Given the description of an element on the screen output the (x, y) to click on. 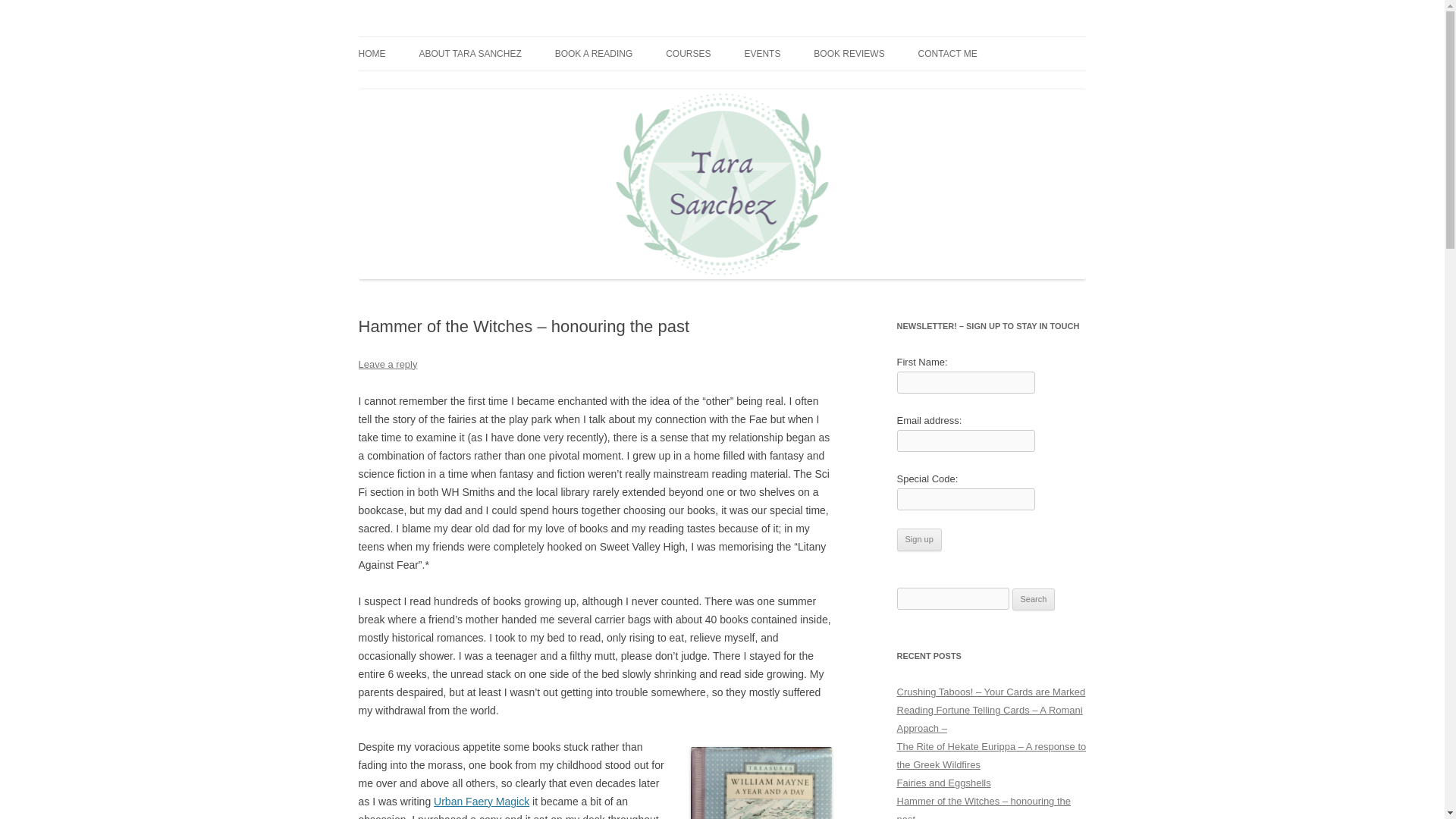
Sign up (918, 539)
Search (1033, 599)
HEKATE: HER SACRED FIRES (889, 85)
Urban Faery Magick (481, 801)
COURSES (687, 53)
Sign up (918, 539)
Fairies and Eggshells (943, 782)
Search (1033, 599)
BOOK REVIEWS (848, 53)
Leave a reply (387, 364)
CONTACT ME (947, 53)
BOOK A READING (593, 53)
EVENTS (762, 53)
